Given the description of an element on the screen output the (x, y) to click on. 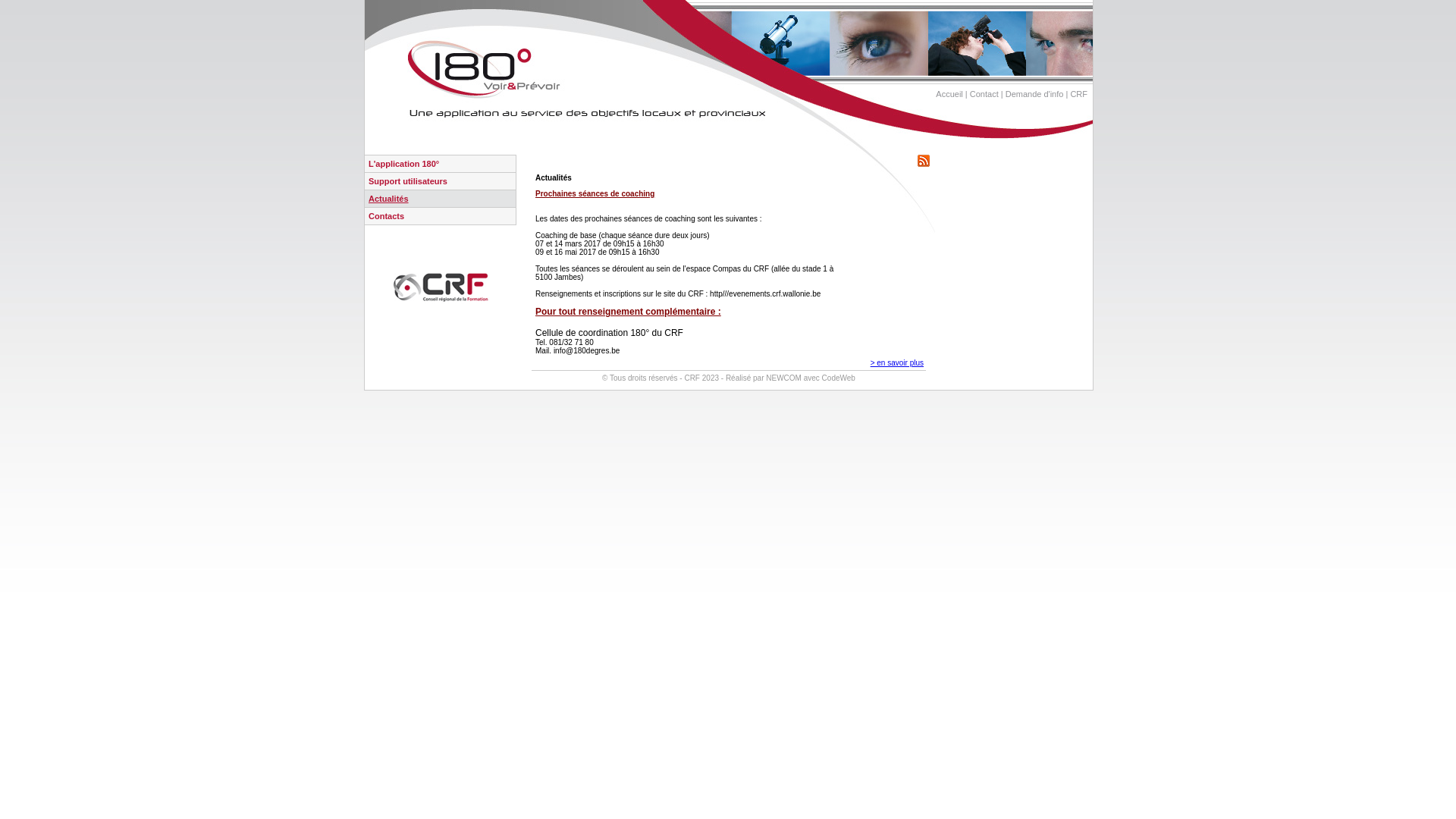
Support utilisateurs Element type: text (407, 180)
Contacts Element type: text (386, 215)
NEWCOM Element type: text (783, 377)
> en savoir plus Element type: text (896, 362)
CRF Element type: text (1078, 93)
Contact Element type: text (983, 93)
Accueil Element type: text (948, 93)
Demande d'info Element type: text (1034, 93)
